Given the description of an element on the screen output the (x, y) to click on. 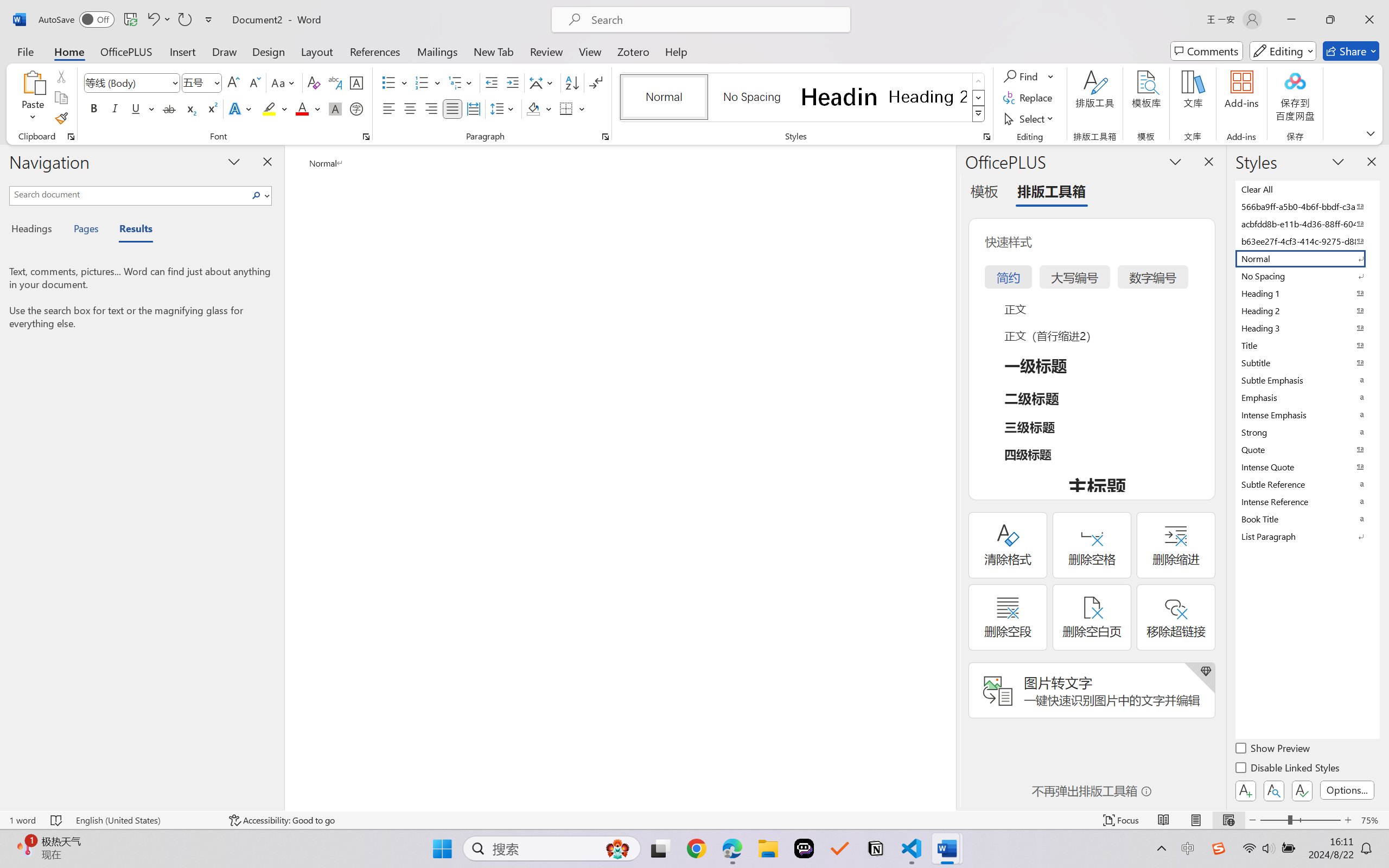
Zoom In (1348, 819)
Design (268, 51)
View (589, 51)
Zoom Out (1273, 819)
Heading 3 (1306, 327)
Justify (452, 108)
Text Highlight Color (274, 108)
Show Preview (1273, 749)
Accessibility Checker Accessibility: Good to go (282, 819)
